Given the description of an element on the screen output the (x, y) to click on. 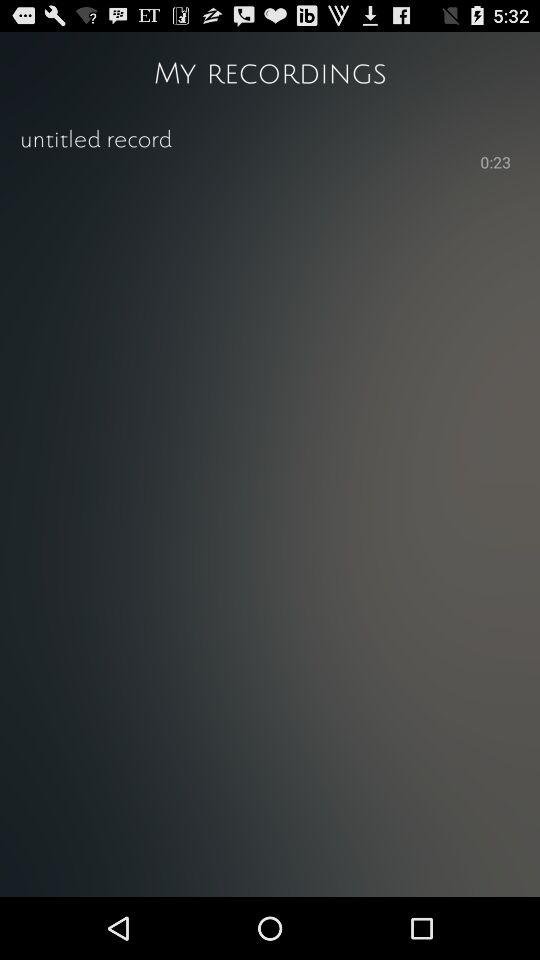
launch the item below the my recordings icon (270, 137)
